Given the description of an element on the screen output the (x, y) to click on. 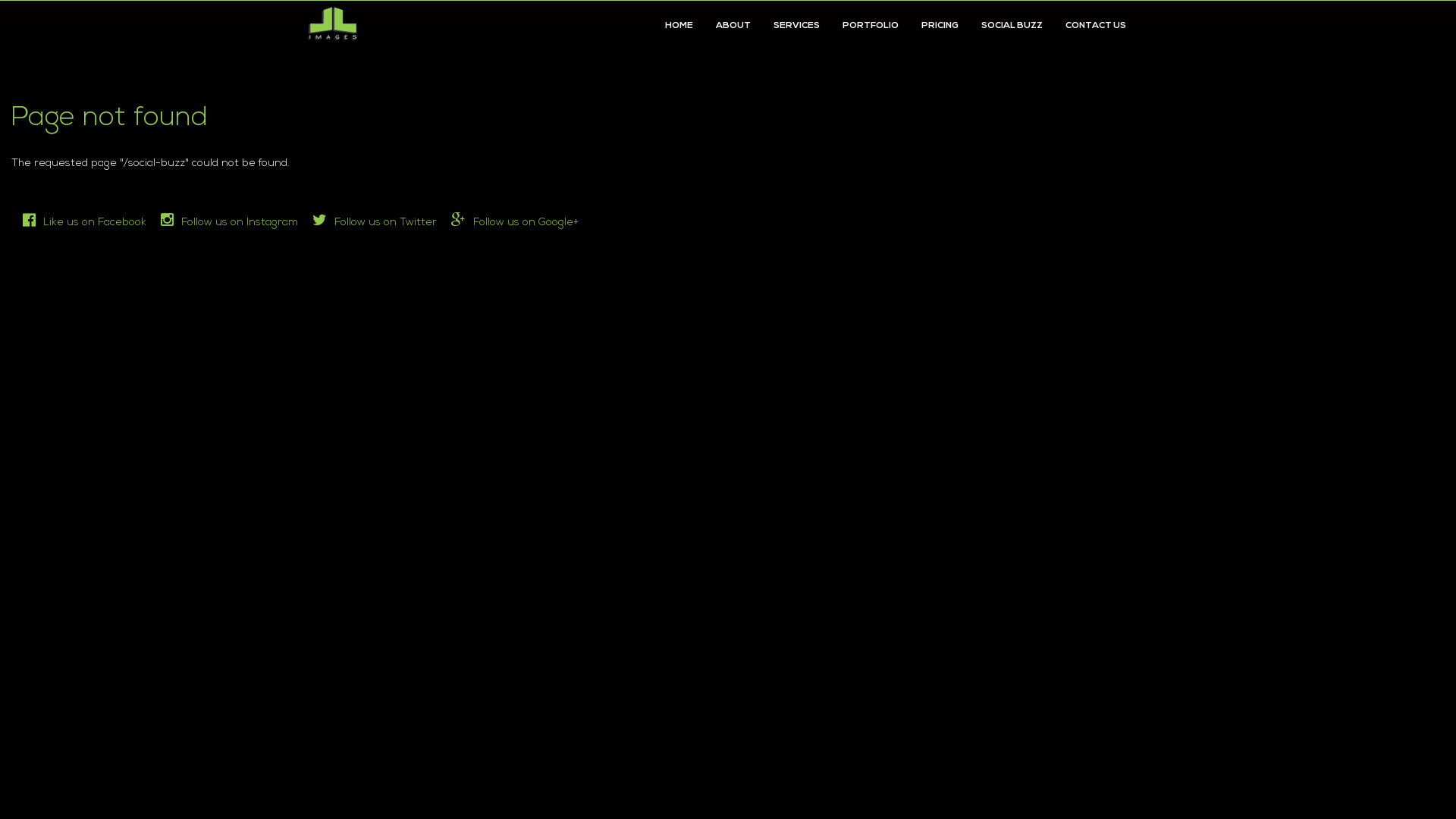
HOME Element type: text (678, 25)
Follow us on Twitter Element type: text (374, 222)
PORTFOLIO Element type: text (870, 25)
PRICING Element type: text (939, 25)
SERVICES Element type: text (796, 25)
Skip to main content Element type: text (0, 0)
Follow us on Google+ Element type: text (514, 222)
Follow us on Instagram Element type: text (229, 222)
ABOUT Element type: text (733, 25)
CONTACT US Element type: text (1095, 25)
Home Element type: hover (337, 23)
Like us on Facebook Element type: text (84, 222)
SOCIAL BUZZ Element type: text (1011, 25)
